Given the description of an element on the screen output the (x, y) to click on. 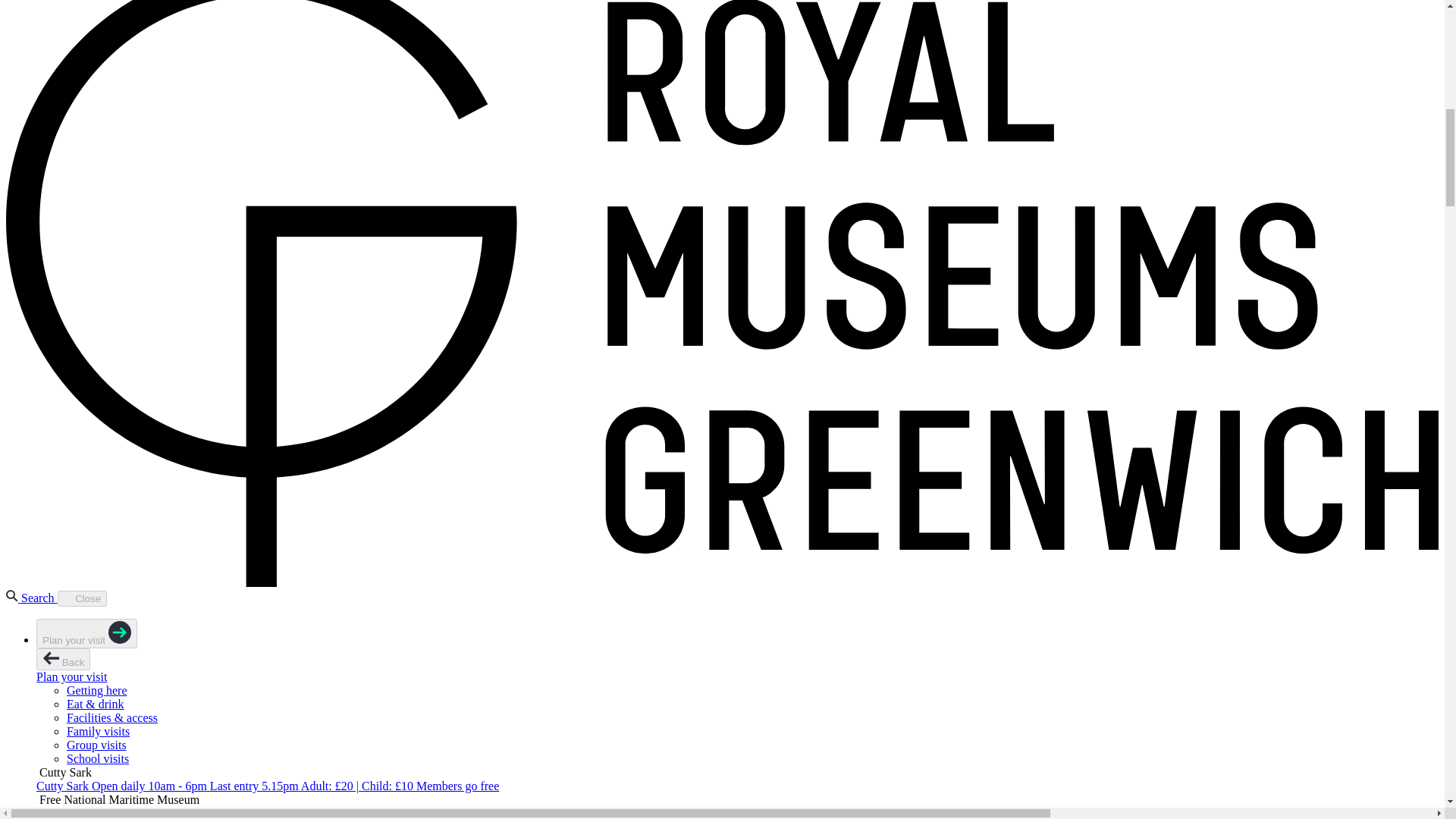
Family visits (97, 730)
Back (63, 659)
Close (82, 598)
Getting here (97, 689)
Plan your visit (86, 633)
School visits (97, 758)
Group visits (96, 744)
Plan your visit (71, 676)
Search (31, 597)
